Given the description of an element on the screen output the (x, y) to click on. 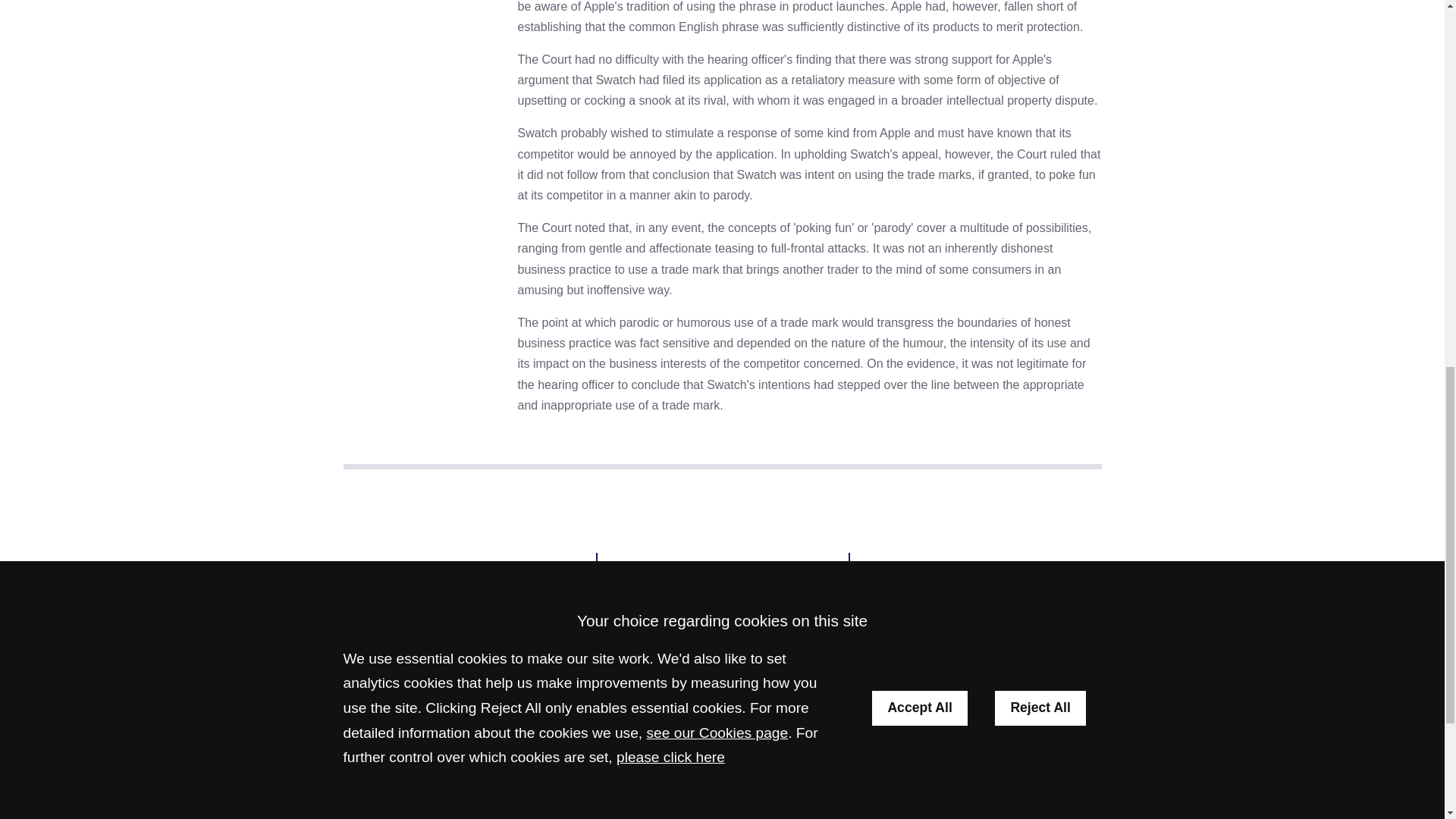
Make an enquiry (721, 567)
Call us today on 0117 9094000 (469, 604)
Get a conveyancing quote (975, 567)
